Given the description of an element on the screen output the (x, y) to click on. 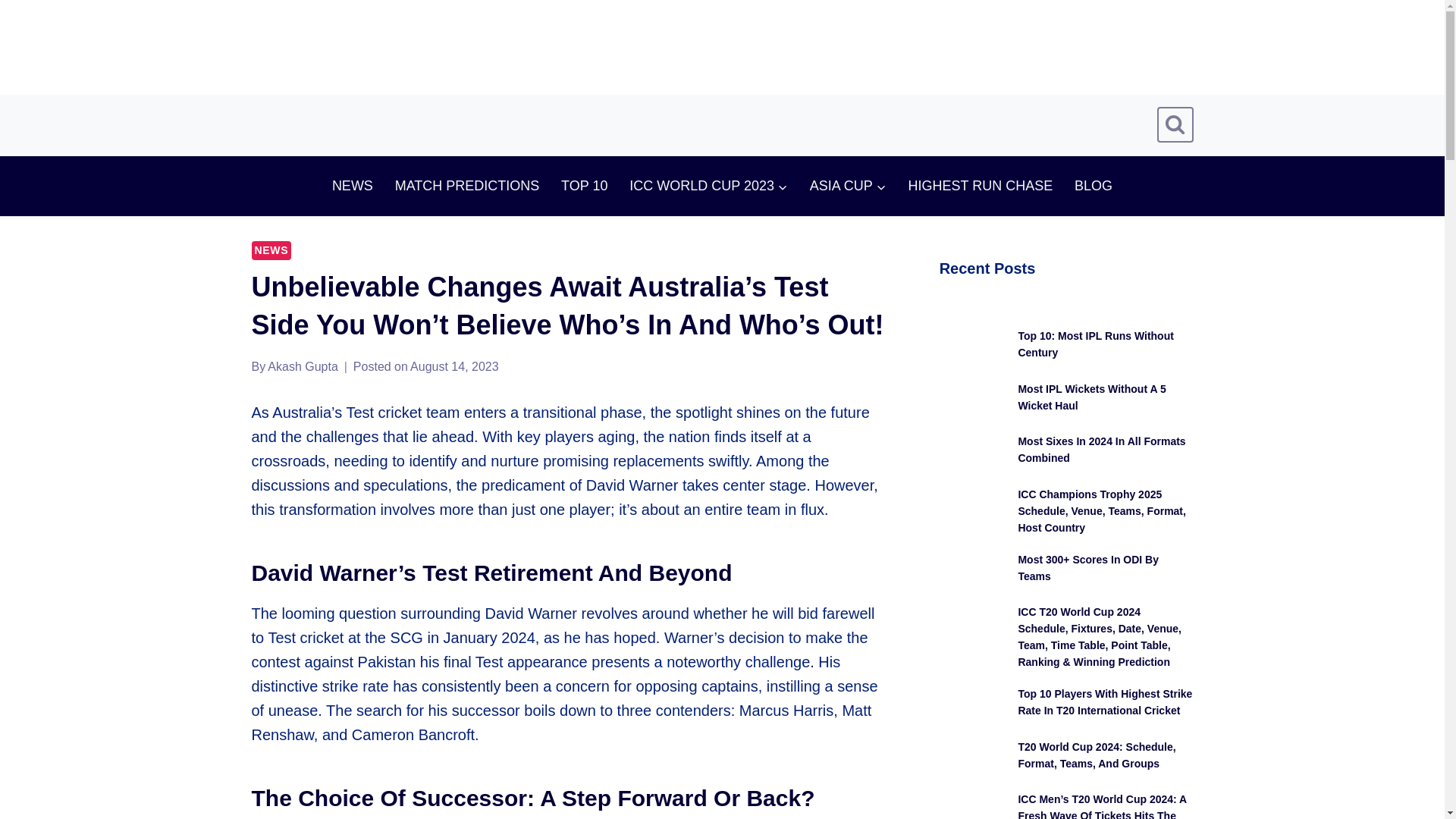
BLOG (1094, 186)
NEWS (352, 186)
Akash Gupta (302, 366)
ICC WORLD CUP 2023 (708, 186)
TOP 10 (584, 186)
HIGHEST RUN CHASE (979, 186)
ASIA CUP (846, 186)
NEWS (271, 250)
MATCH PREDICTIONS (467, 186)
